Given the description of an element on the screen output the (x, y) to click on. 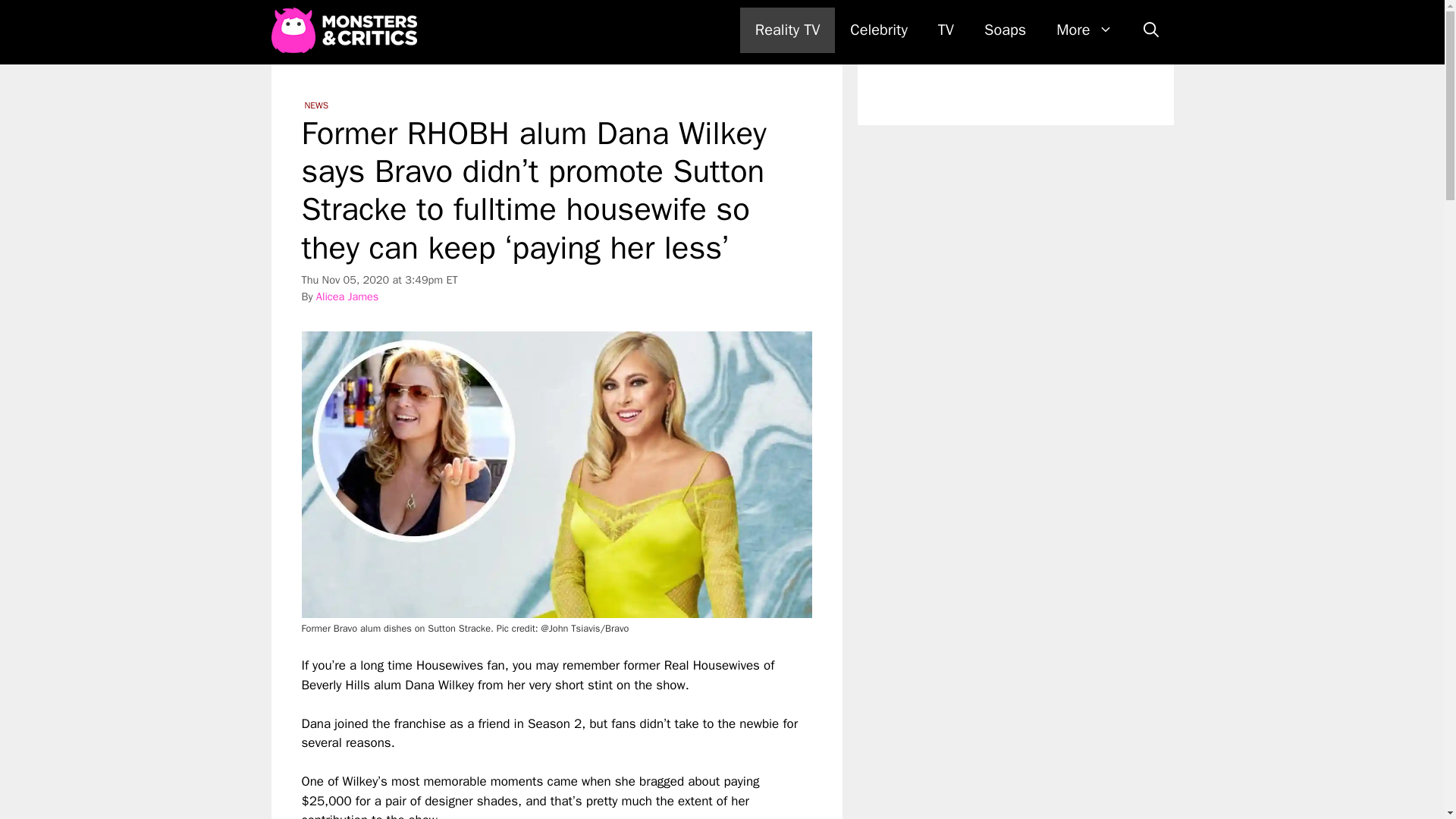
Alicea James (346, 296)
Celebrity (877, 30)
View all posts by Alicea James (346, 296)
TV (946, 30)
Monsters and Critics (347, 30)
More (1083, 30)
Reality TV (787, 30)
Monsters and Critics (343, 30)
Soaps (1005, 30)
